Given the description of an element on the screen output the (x, y) to click on. 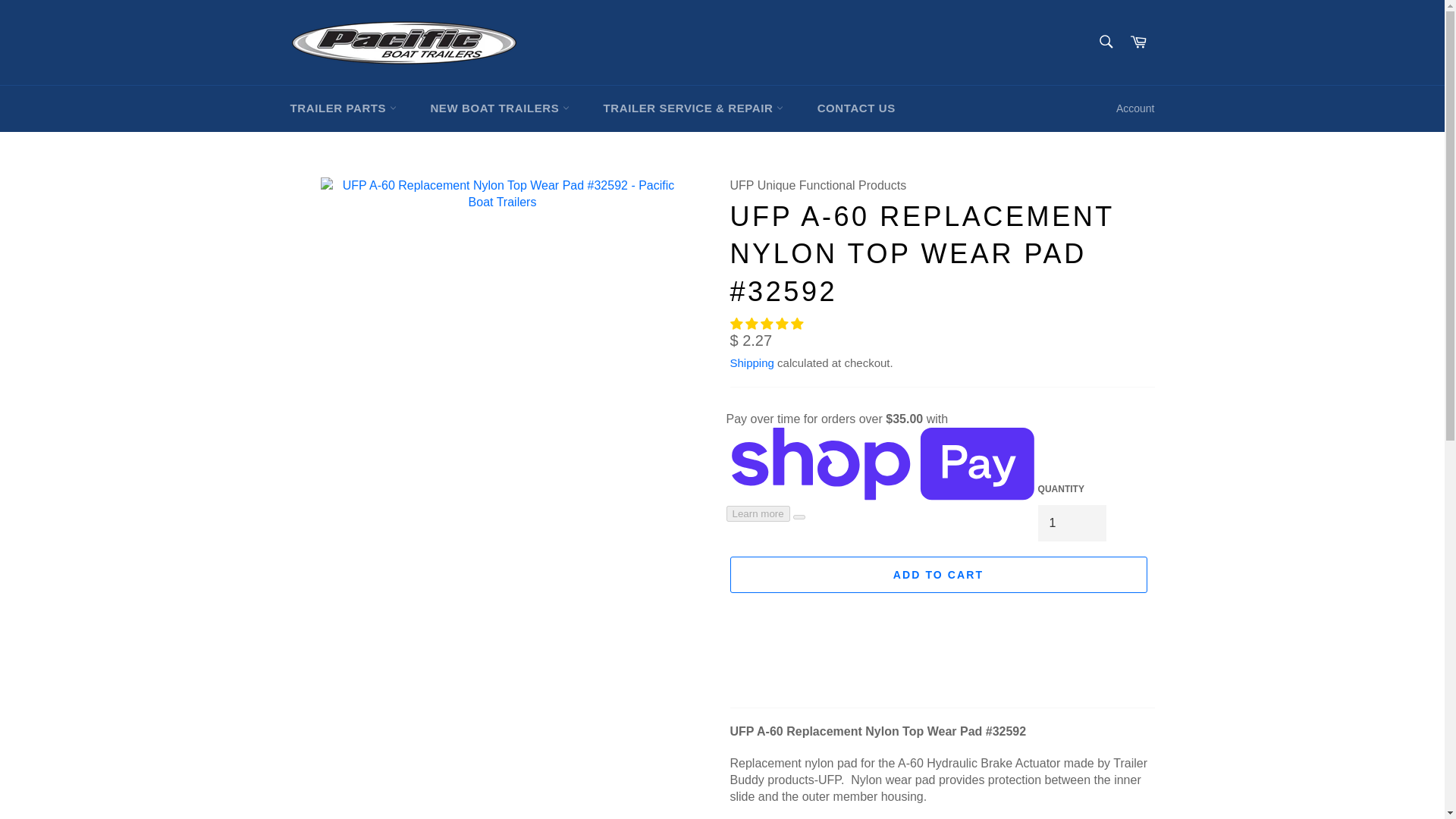
1 (1072, 523)
